Given the description of an element on the screen output the (x, y) to click on. 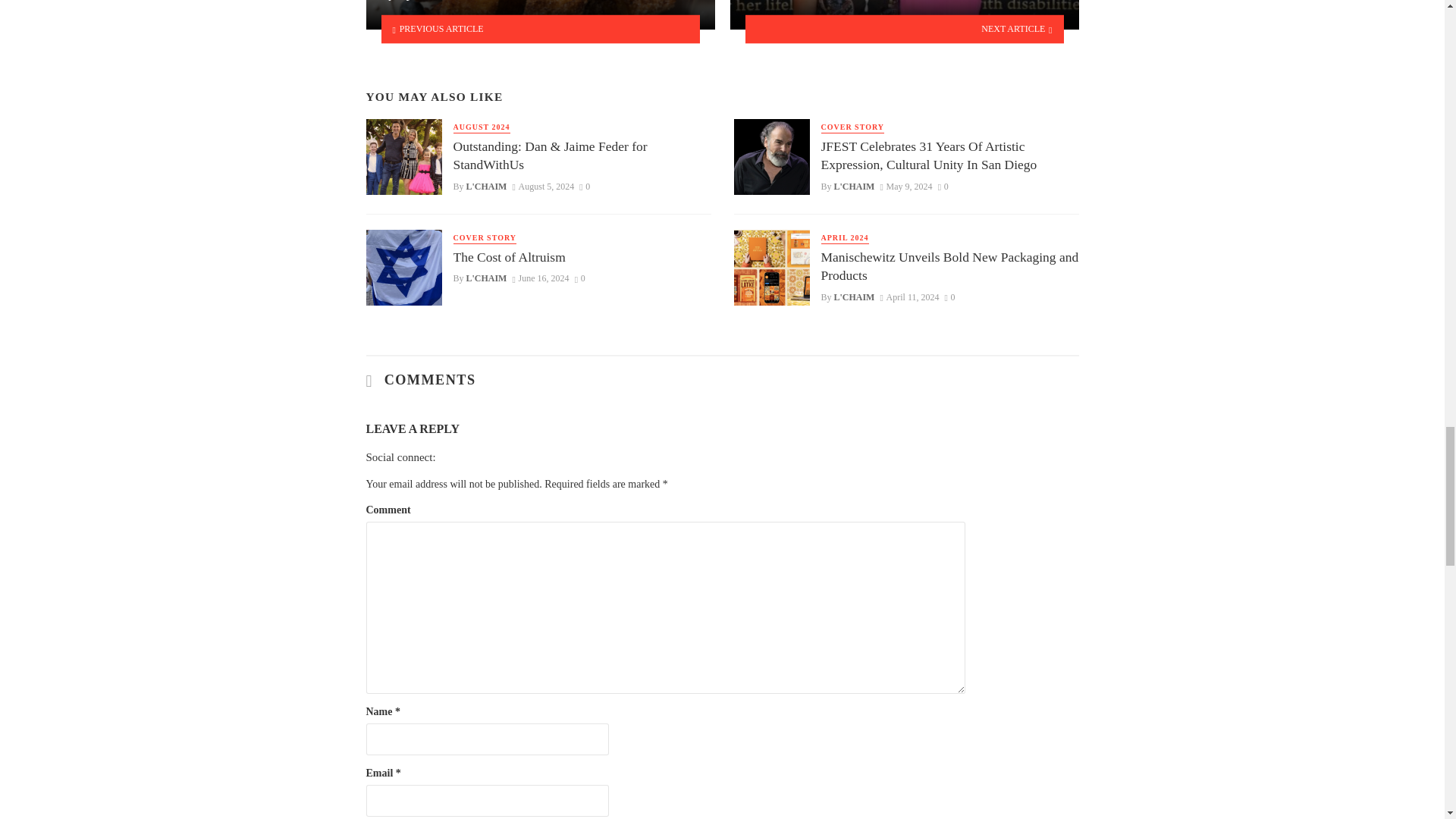
PREVIOUS ARTICLE (539, 29)
August 5, 2024 at 8:33 pm (543, 185)
0 Comments (584, 185)
NEXT ARTICLE (903, 29)
